Given the description of an element on the screen output the (x, y) to click on. 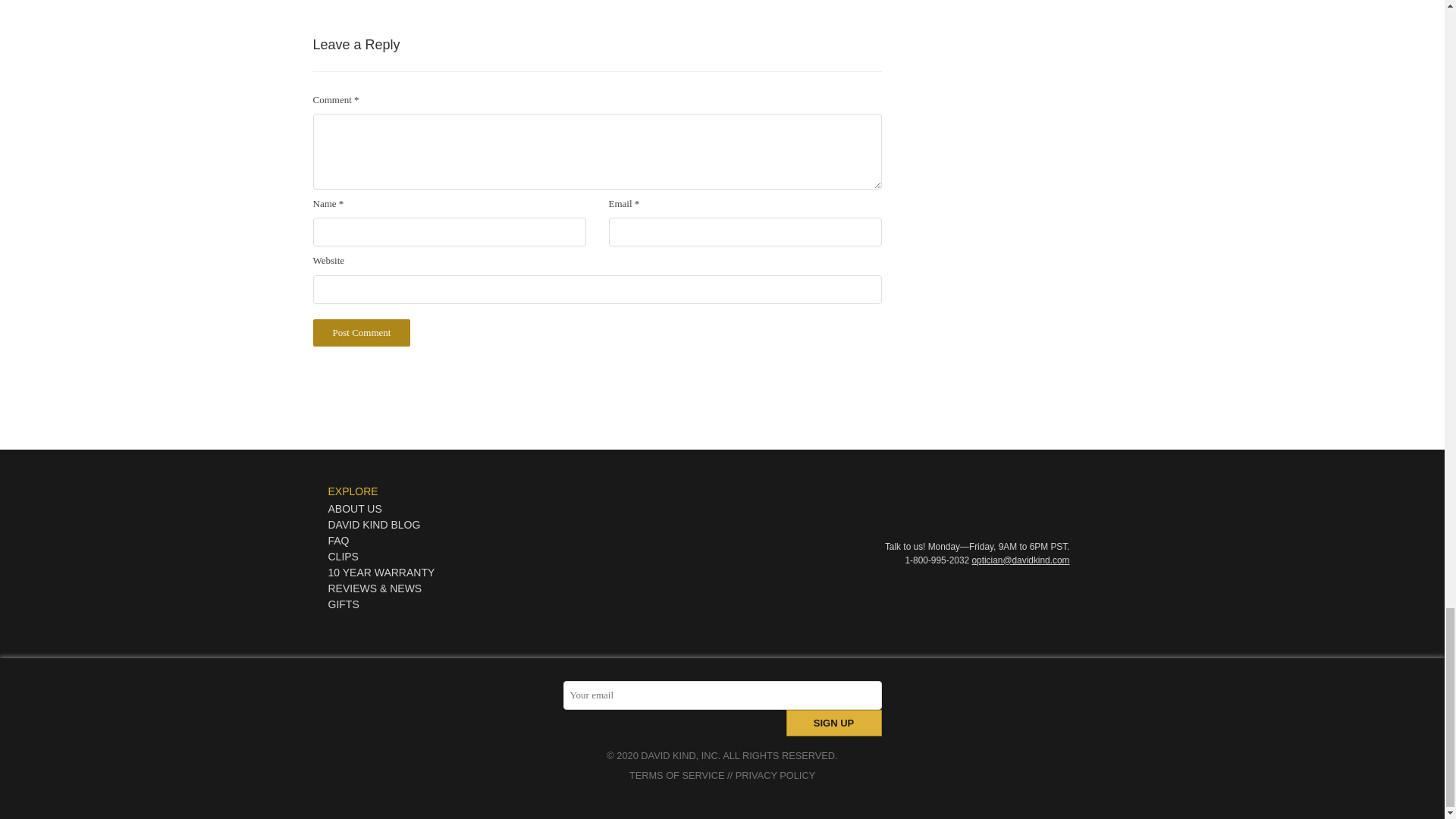
Post Comment (361, 332)
